Given the description of an element on the screen output the (x, y) to click on. 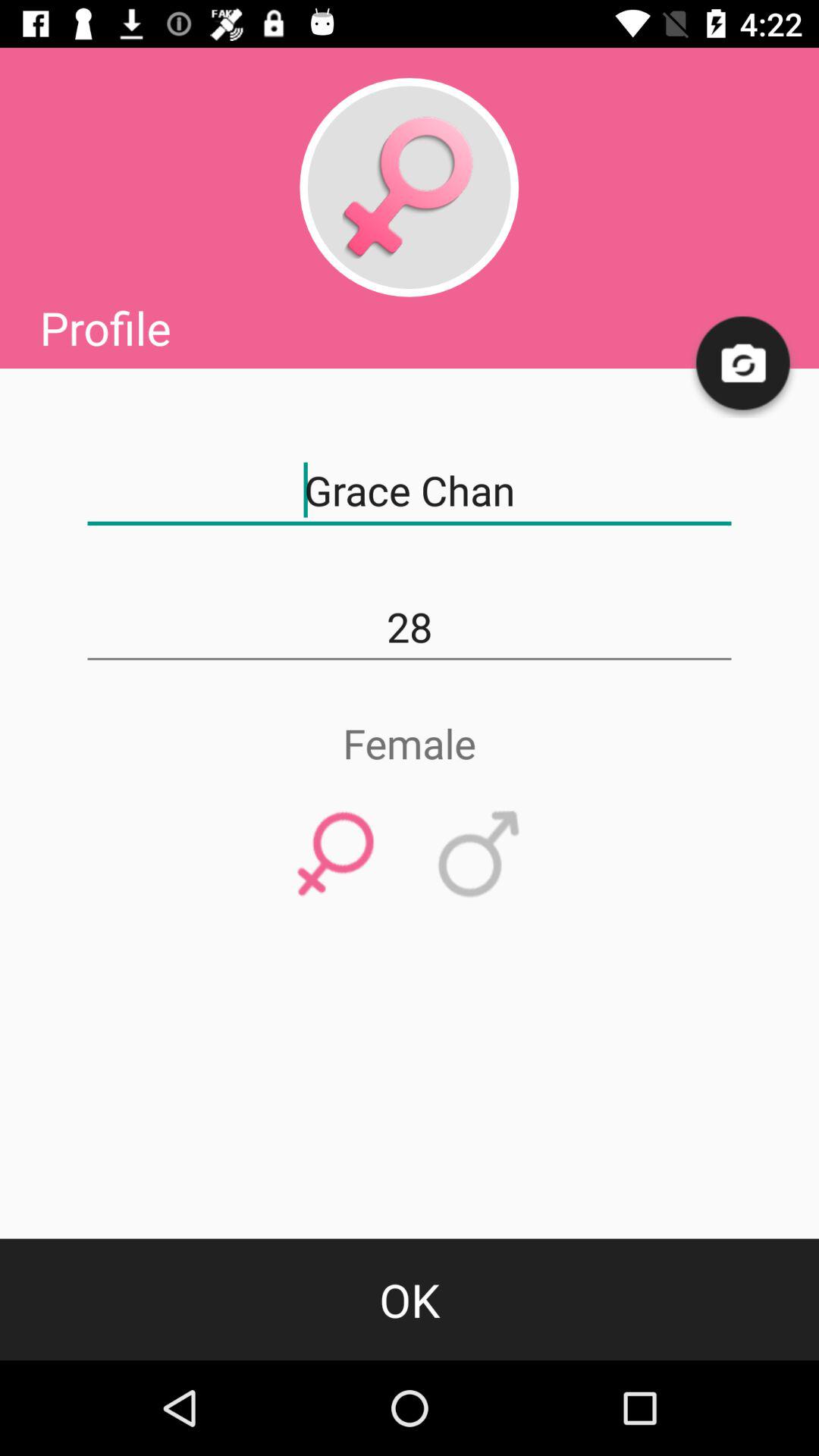
male option (479, 854)
